Given the description of an element on the screen output the (x, y) to click on. 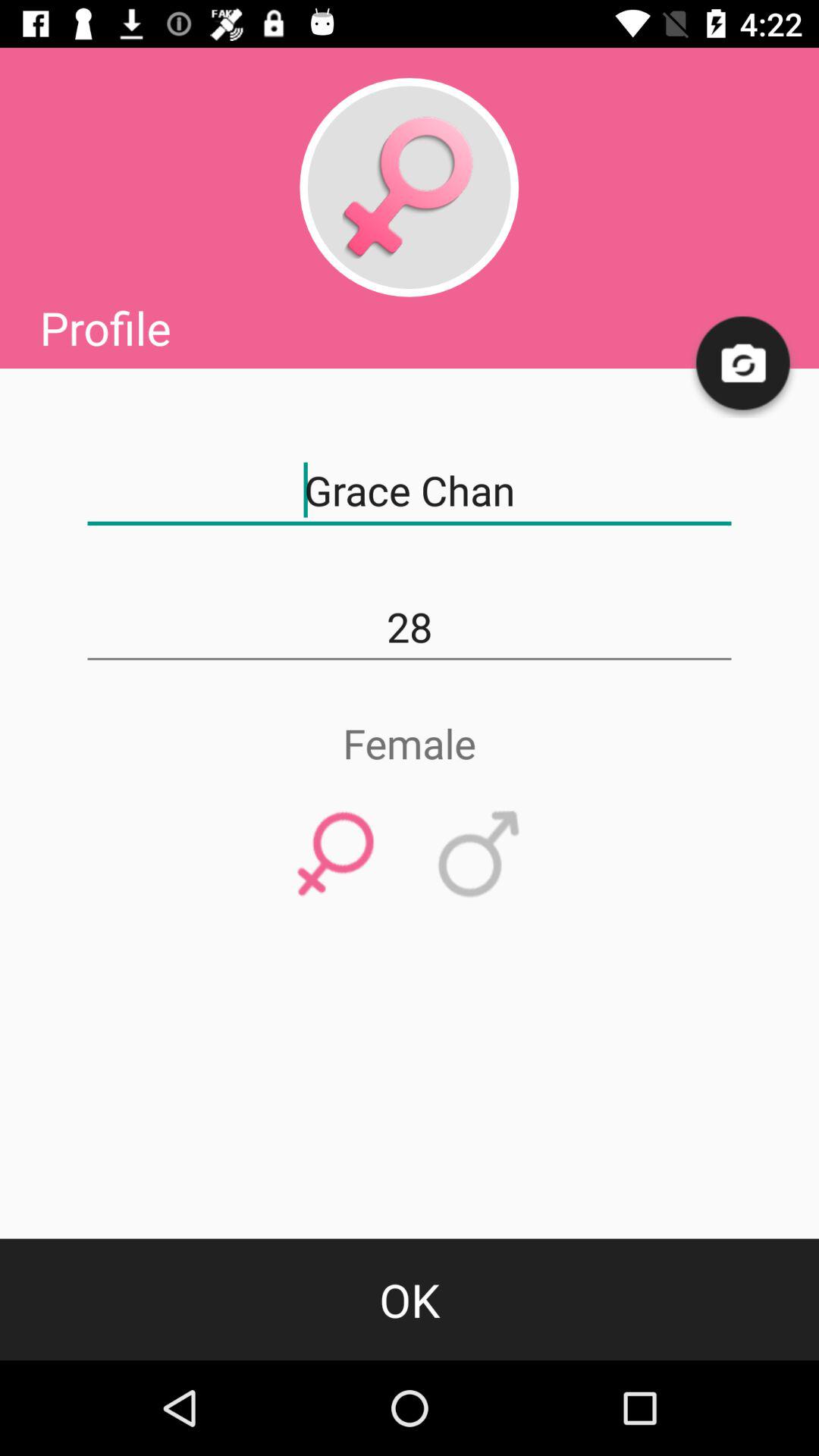
male option (479, 854)
